Given the description of an element on the screen output the (x, y) to click on. 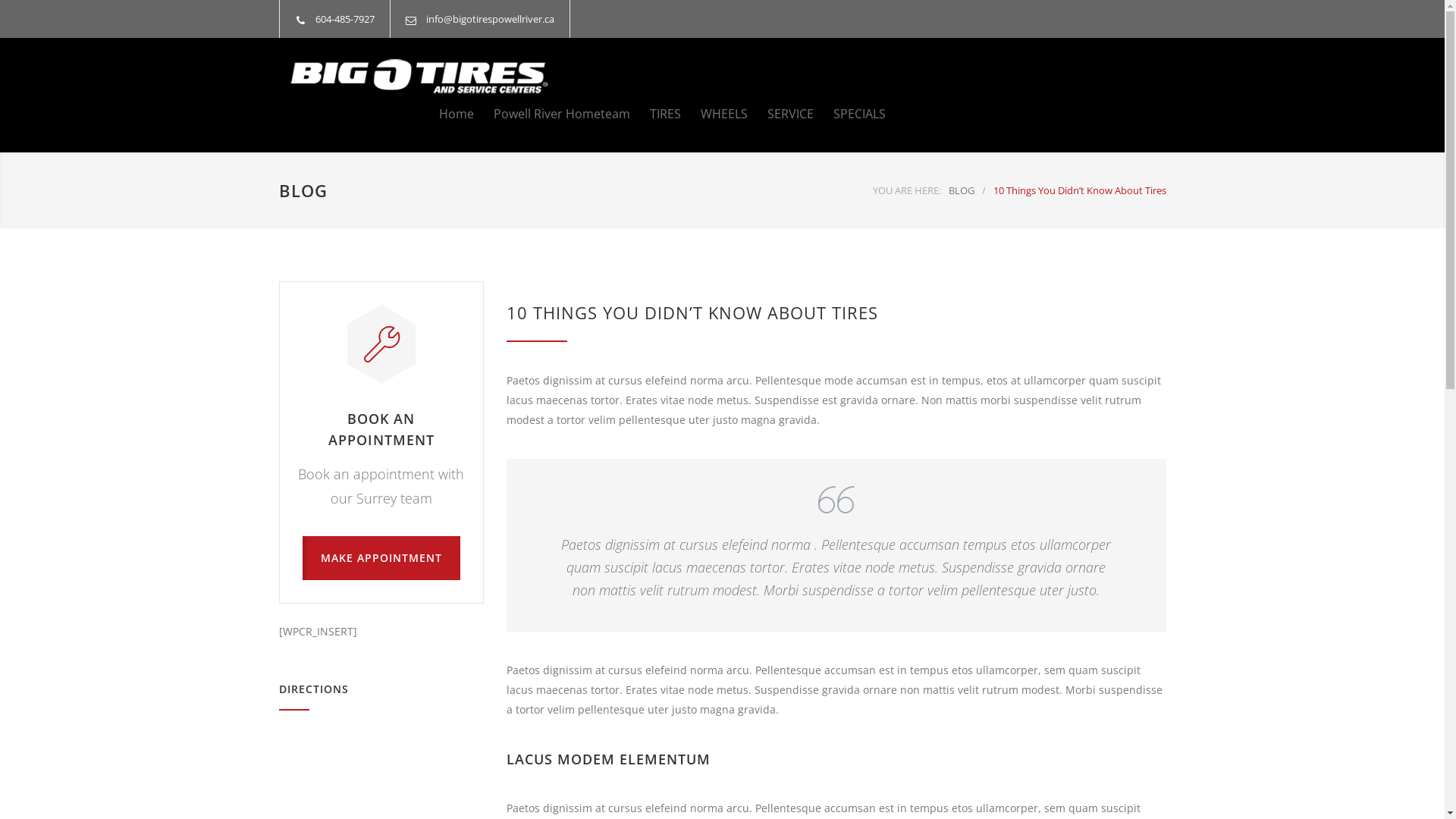
TIRES Element type: text (654, 113)
MAKE APPOINTMENT Element type: text (380, 558)
Powell River Hometeam Element type: text (551, 113)
info@bigotirespowellriver.ca Element type: text (490, 18)
SPECIALS Element type: text (848, 113)
BLOG Element type: text (960, 190)
Big O Tires Powell River Element type: hover (419, 75)
Home Element type: text (455, 113)
SERVICE Element type: text (780, 113)
BLOG Element type: text (303, 189)
WHEELS Element type: text (713, 113)
